Given the description of an element on the screen output the (x, y) to click on. 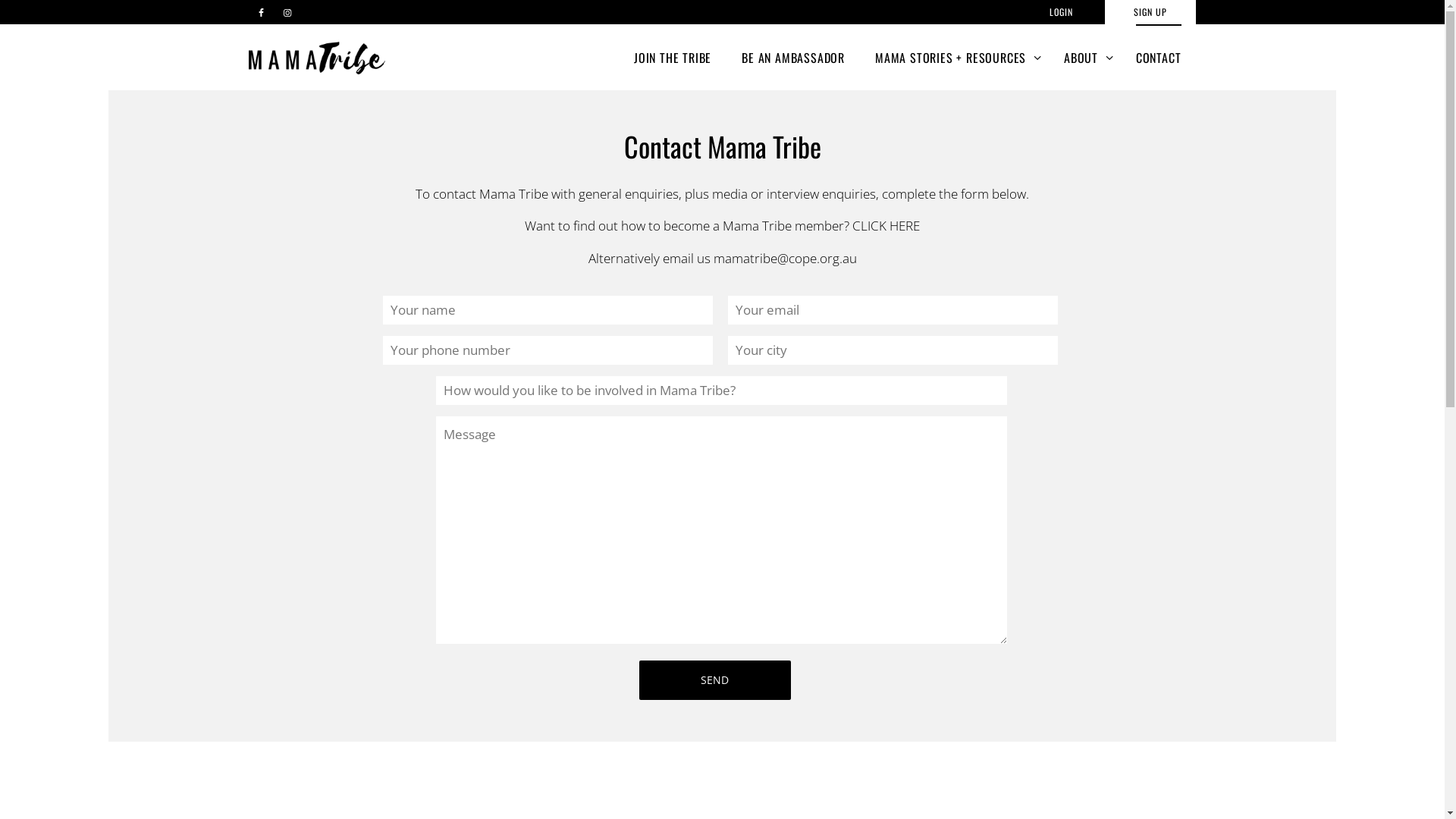
ABOUT Element type: text (1084, 57)
CONTACT Element type: text (1158, 57)
JOIN THE TRIBE Element type: text (672, 57)
CLICK HERE Element type: text (885, 225)
BE AN AMBASSADOR Element type: text (792, 57)
Mama Tribe Element type: hover (316, 57)
mamatribe@cope.org.au Element type: text (784, 257)
Send Element type: text (714, 679)
MAMA STORIES + RESOURCES Element type: text (954, 57)
